Given the description of an element on the screen output the (x, y) to click on. 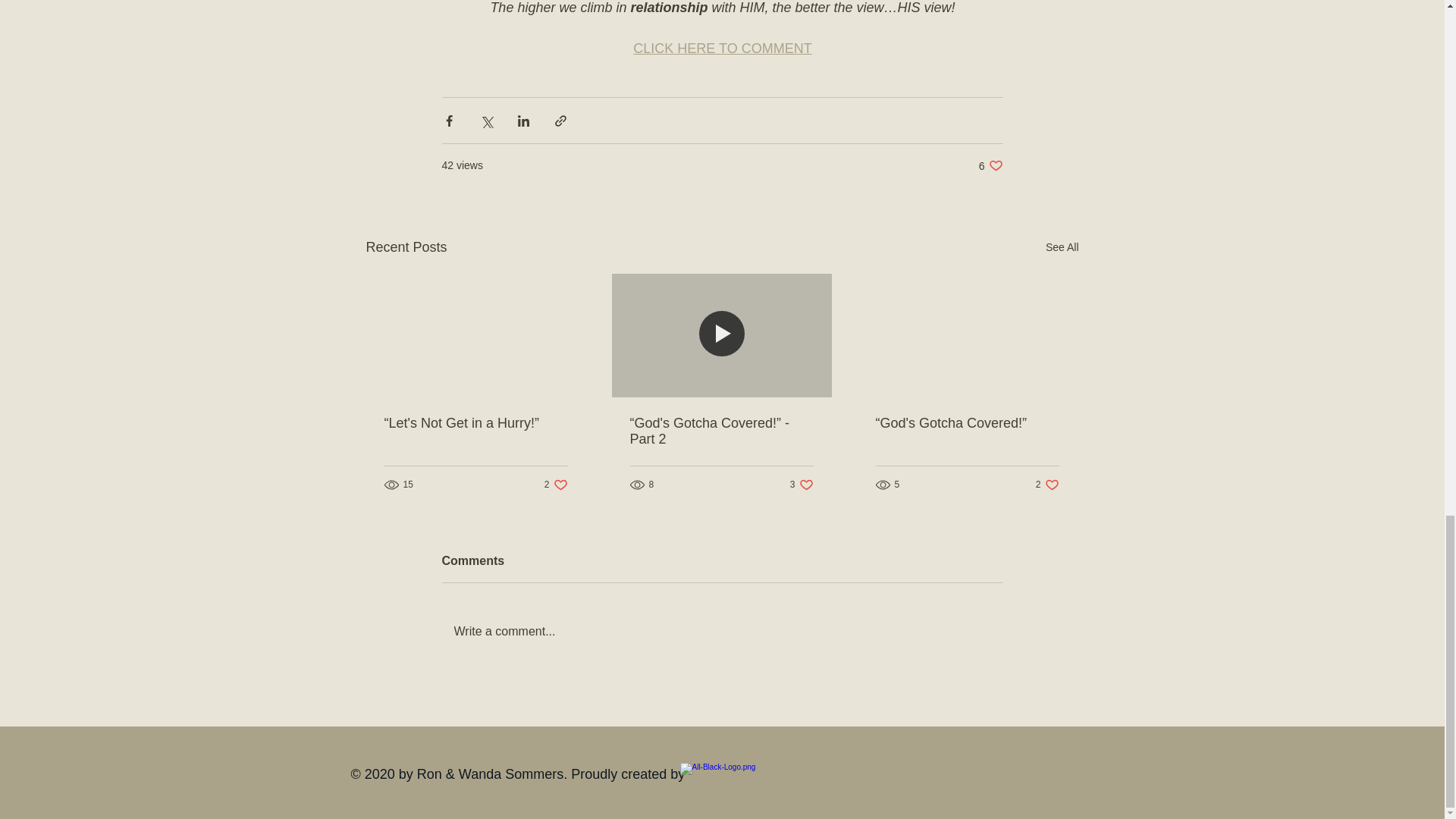
CLICK HERE TO COMMENT (721, 48)
